Given the description of an element on the screen output the (x, y) to click on. 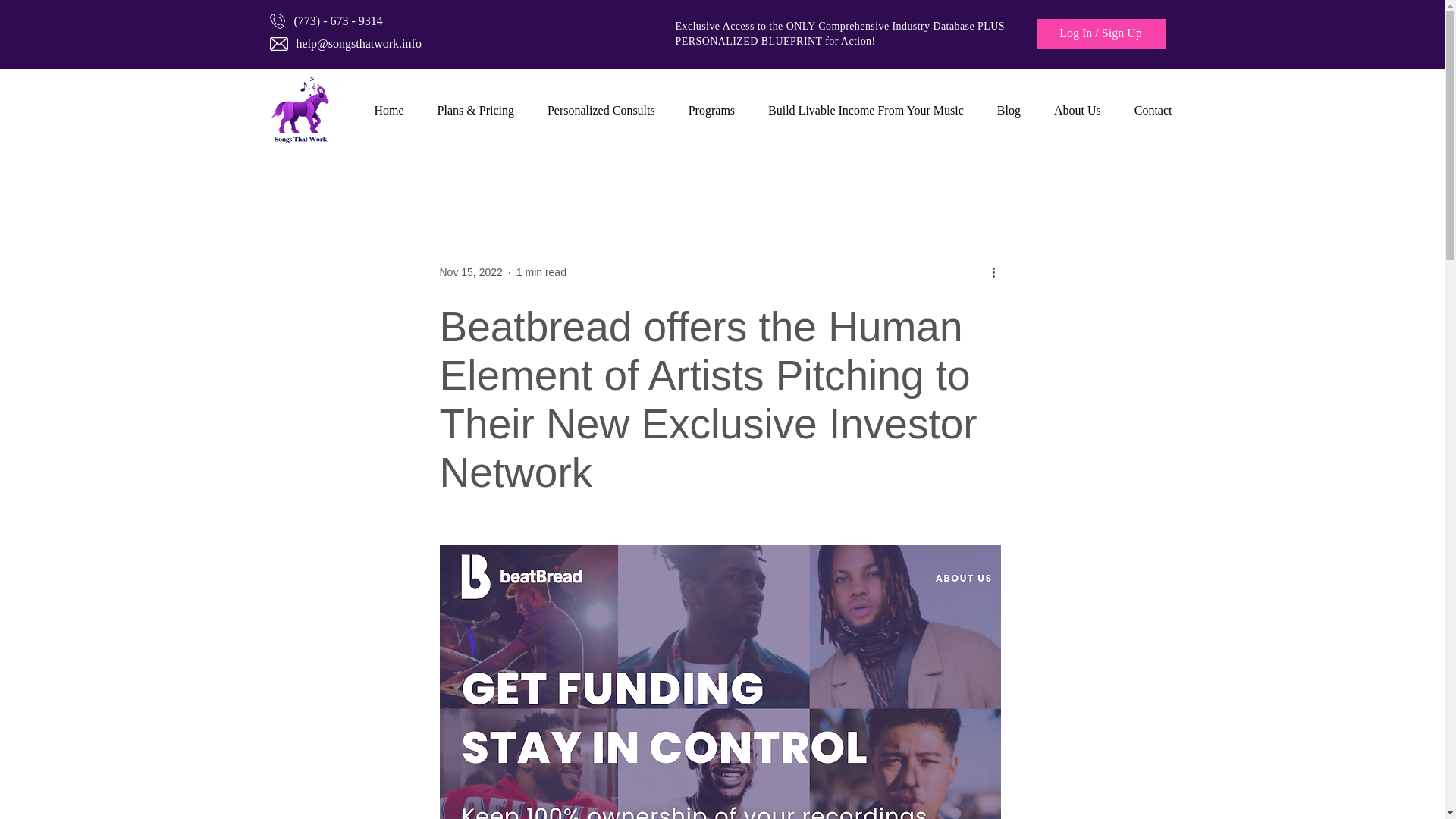
Nov 15, 2022 (470, 272)
Blog (1008, 110)
About Us (1078, 110)
Build Livable Income From Your Music (865, 110)
Home (389, 110)
1 min read (541, 272)
Personalized Consults (601, 110)
Programs (711, 110)
Contact (1153, 110)
